Given the description of an element on the screen output the (x, y) to click on. 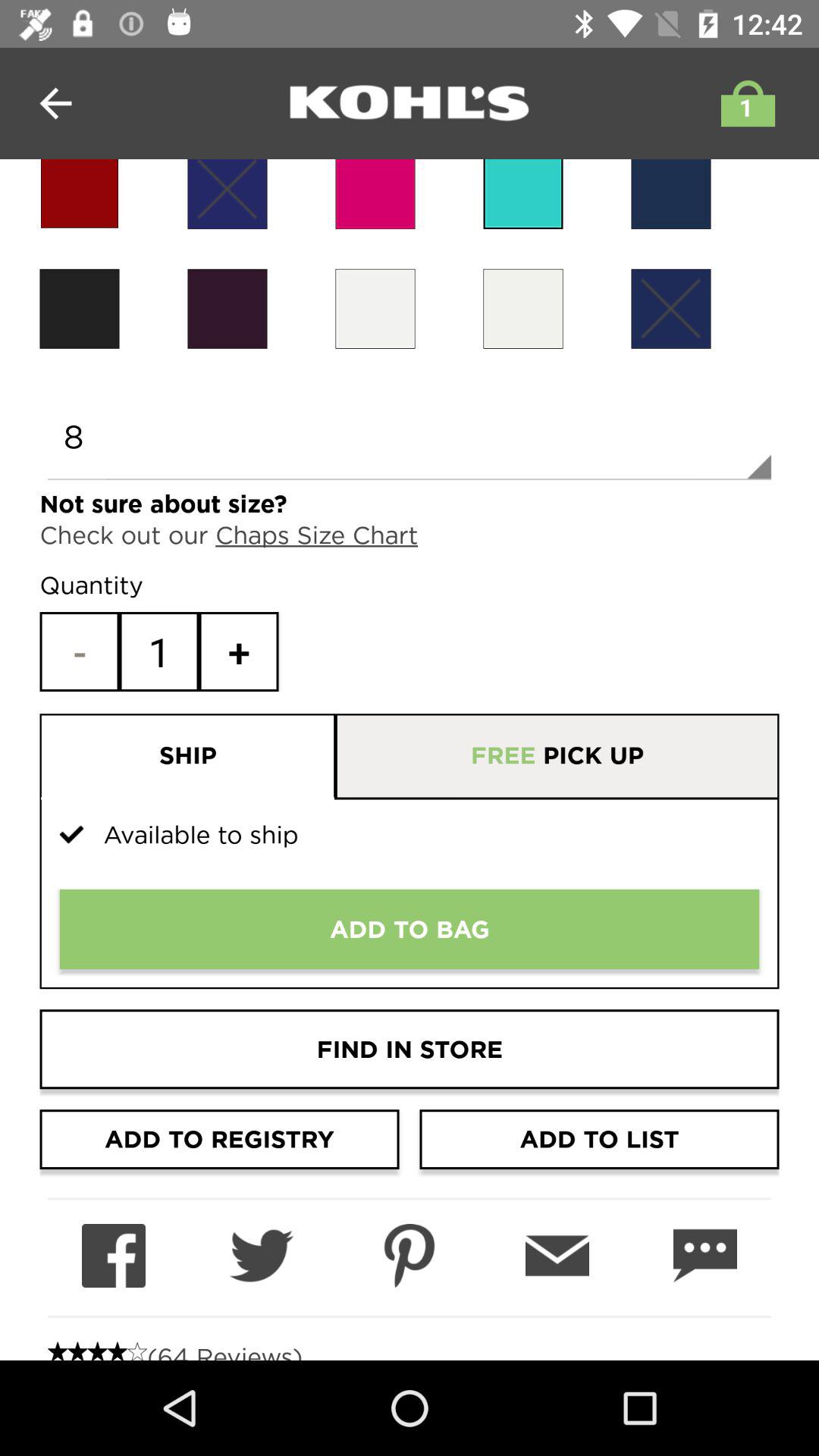
share by text message (705, 1255)
